Given the description of an element on the screen output the (x, y) to click on. 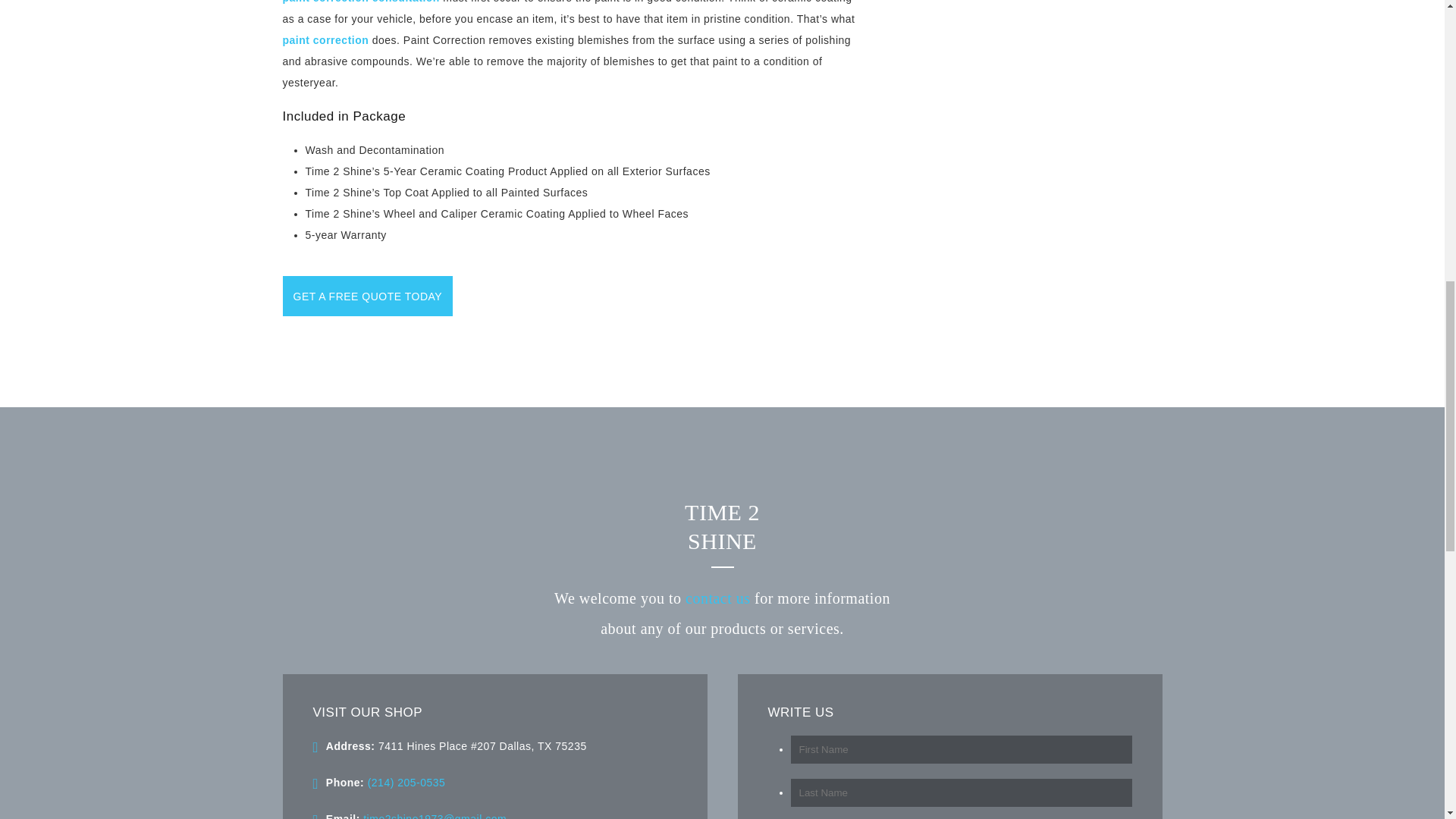
Free Quote (367, 296)
